Given the description of an element on the screen output the (x, y) to click on. 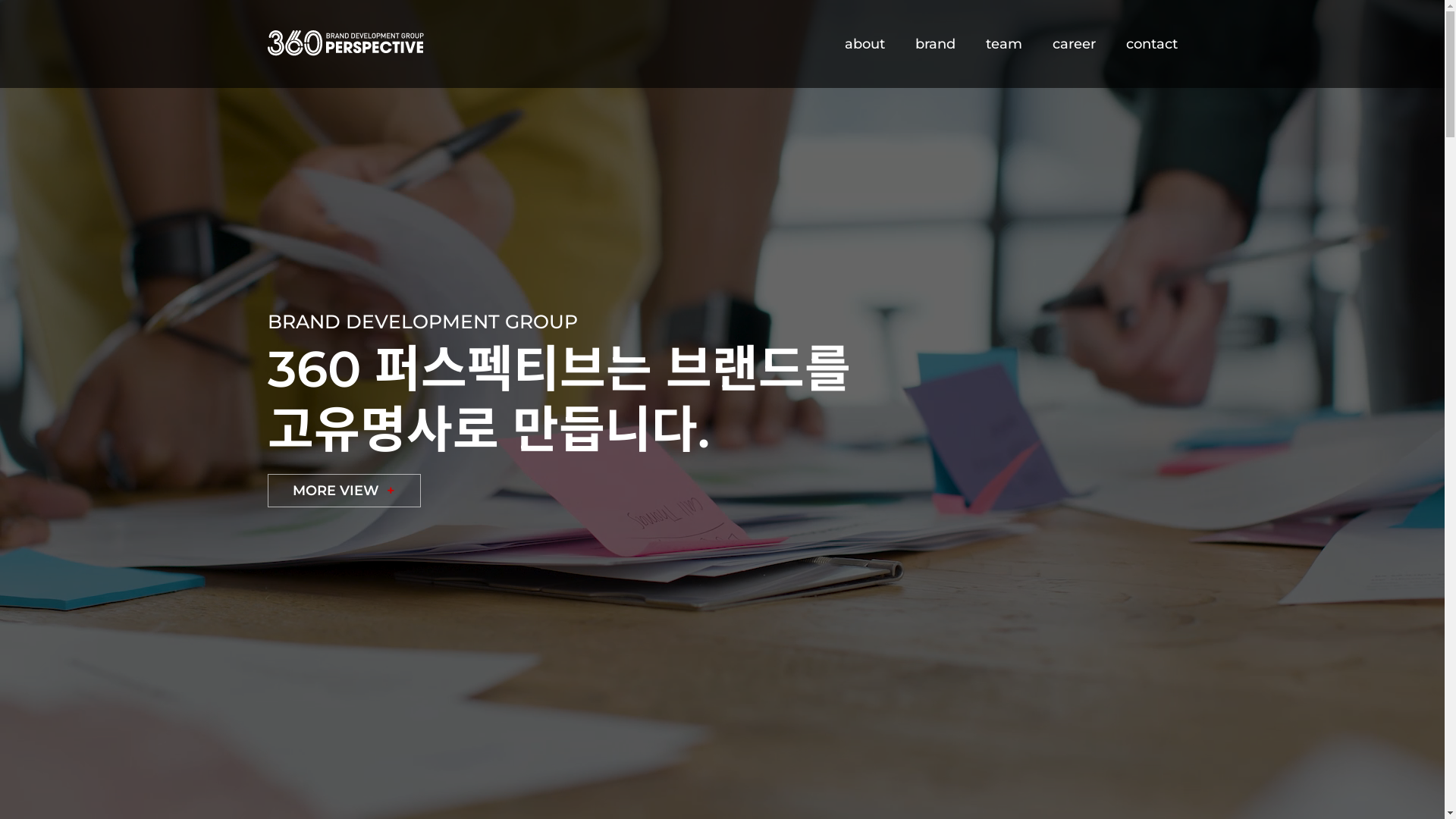
career Element type: text (1073, 44)
brand Element type: text (934, 44)
contact Element type: text (1150, 44)
team Element type: text (1003, 44)
about Element type: text (864, 44)
MORE VIEW+ Element type: text (344, 490)
